Given the description of an element on the screen output the (x, y) to click on. 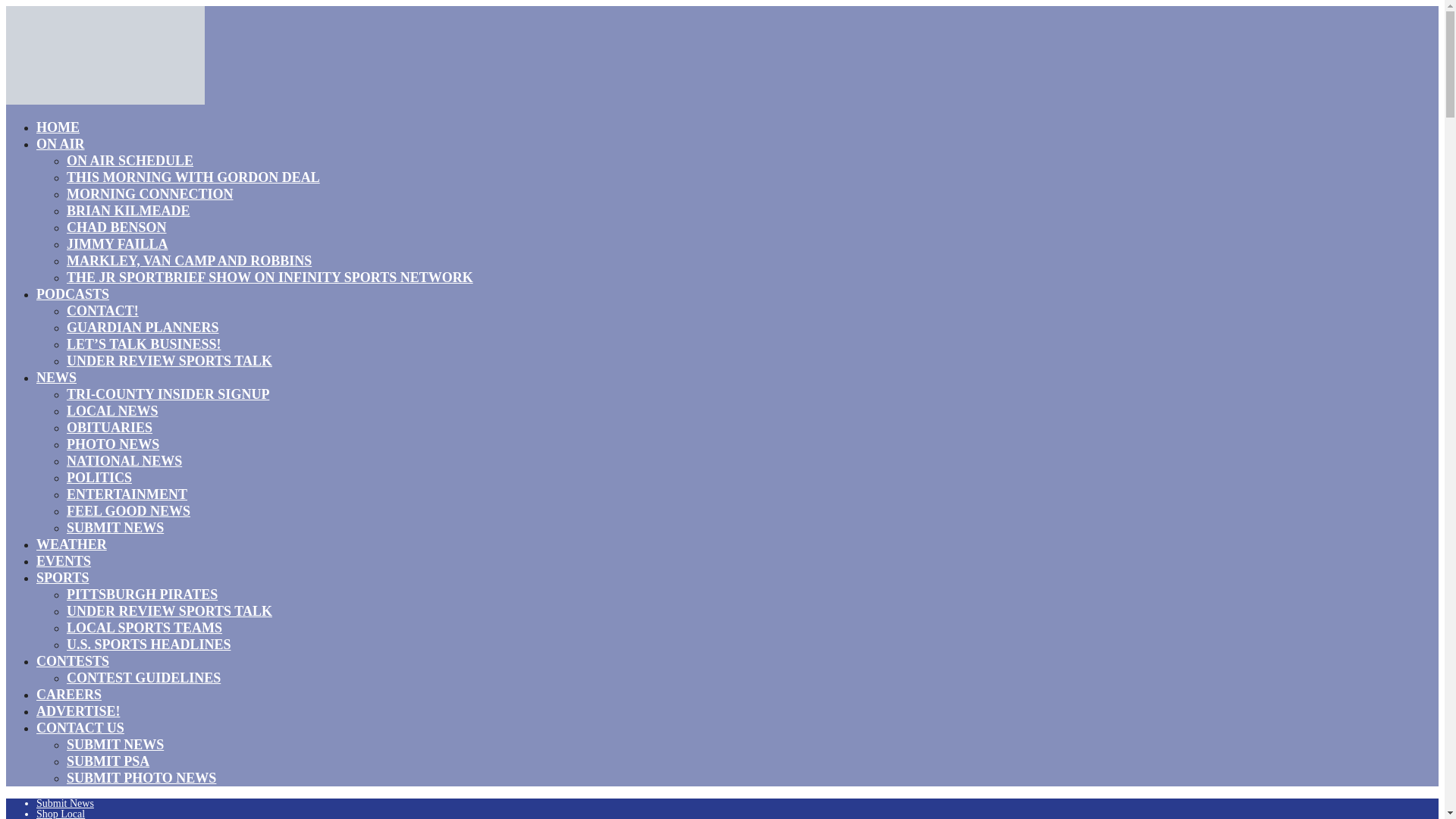
ON AIR (60, 143)
CONTACT! (102, 310)
OBITUARIES (109, 427)
UNDER REVIEW SPORTS TALK (169, 360)
ON AIR SCHEDULE (129, 160)
MARKLEY, VAN CAMP AND ROBBINS (188, 260)
CONTACT US (79, 727)
ADVERTISE! (77, 711)
FEEL GOOD NEWS (128, 510)
JIMMY FAILLA (117, 243)
